Given the description of an element on the screen output the (x, y) to click on. 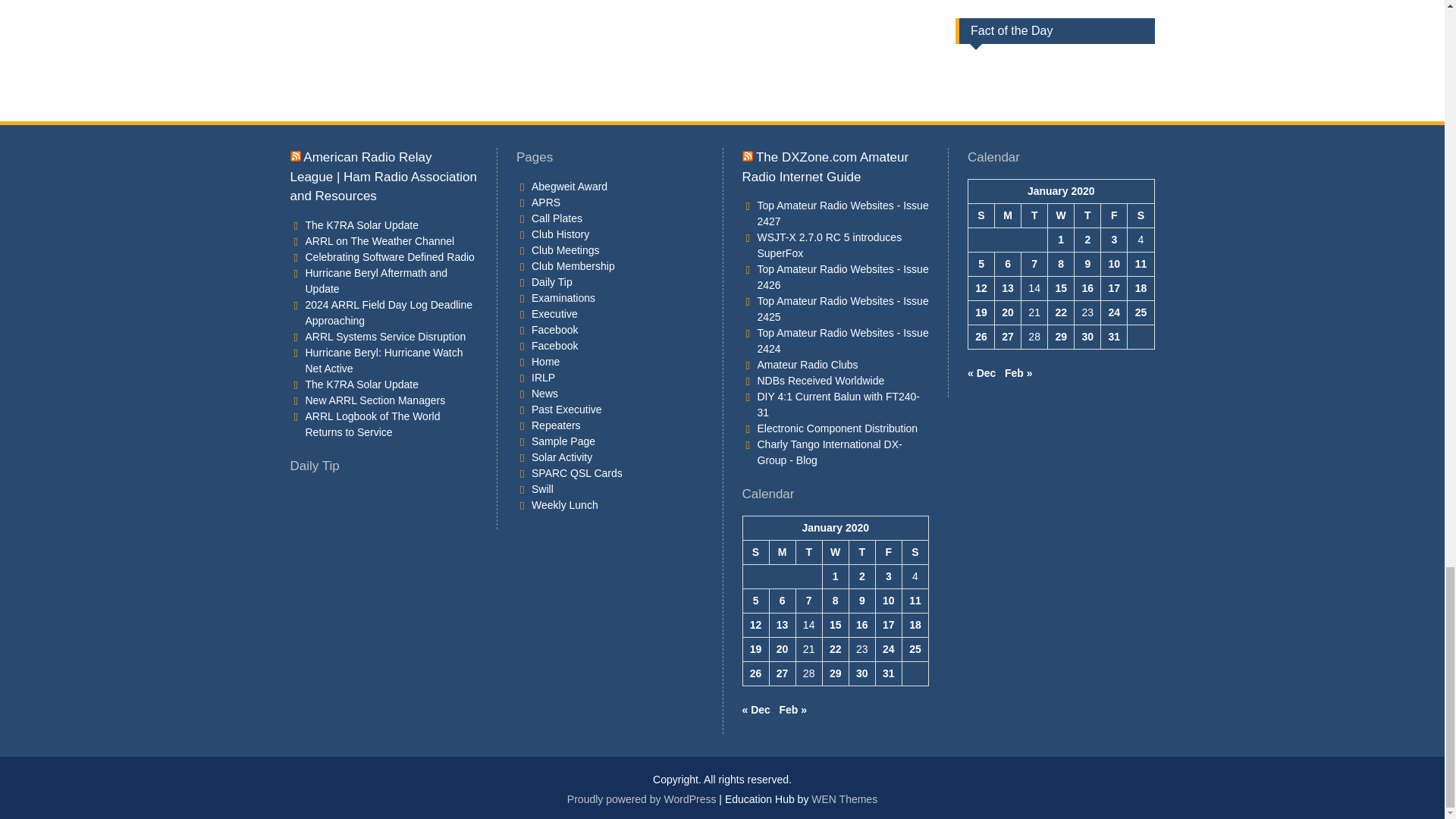
Thursday (861, 551)
Sunday (981, 215)
Wednesday (1061, 215)
Thursday (1087, 215)
Saturday (1140, 215)
Saturday (914, 551)
Monday (781, 551)
Friday (1113, 215)
Wednesday (835, 551)
Friday (888, 551)
Tuesday (1035, 215)
Tuesday (808, 551)
Sunday (755, 551)
Your Remote S-Meter (990, 66)
Monday (1008, 215)
